Given the description of an element on the screen output the (x, y) to click on. 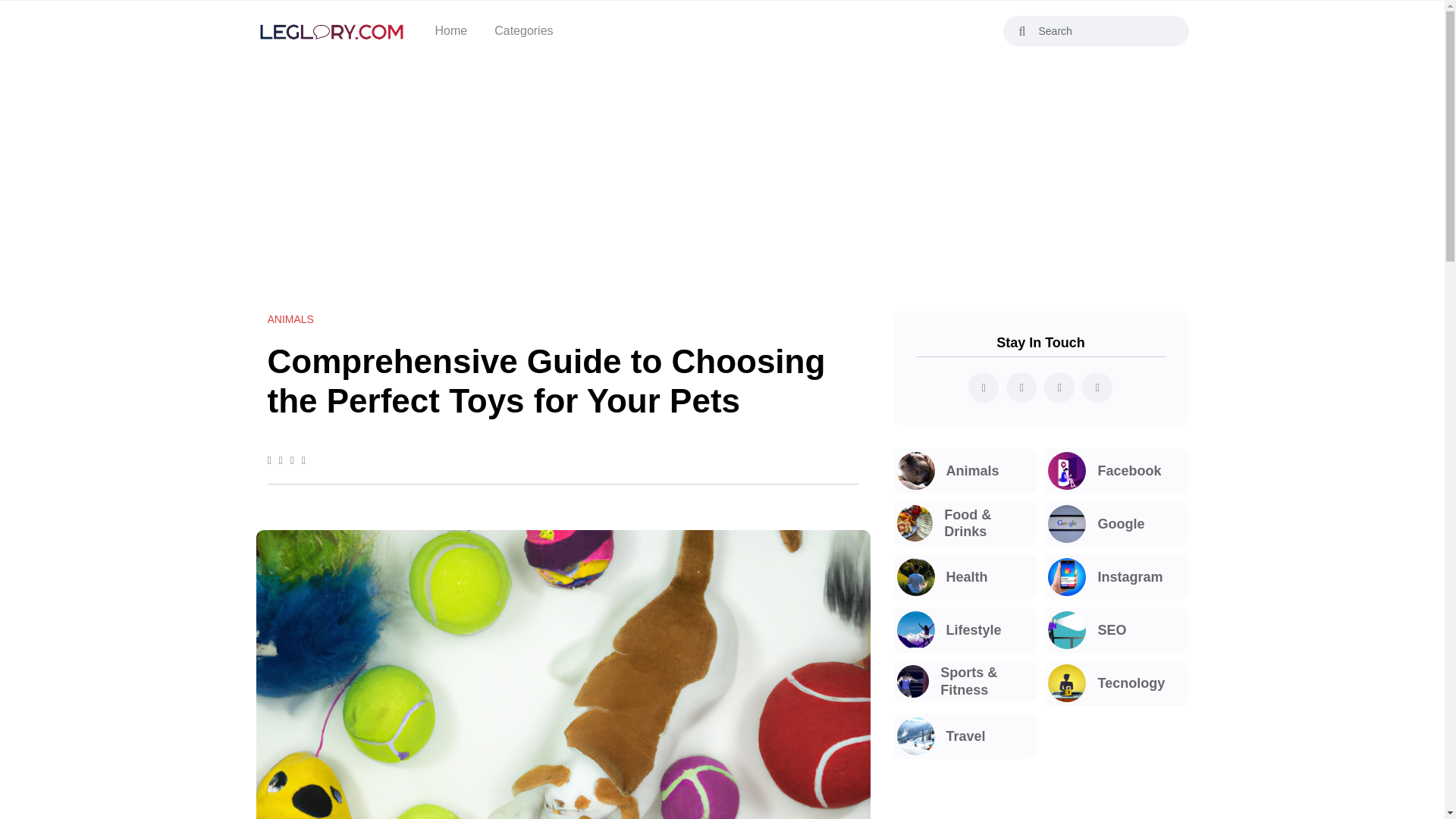
Categories (524, 30)
ANIMALS (289, 319)
